Given the description of an element on the screen output the (x, y) to click on. 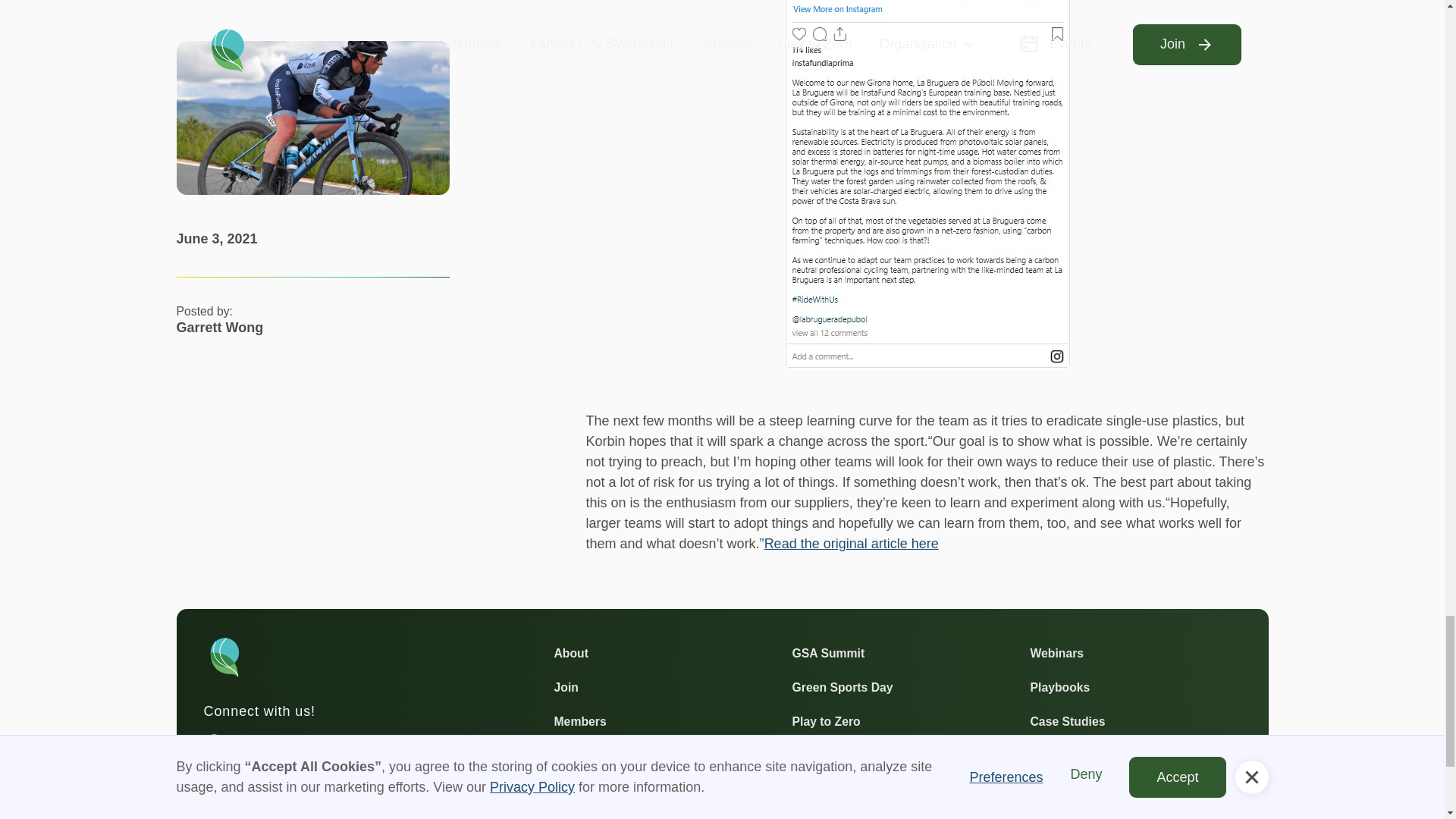
Read the original article here (851, 543)
Join (565, 687)
About (570, 652)
